Given the description of an element on the screen output the (x, y) to click on. 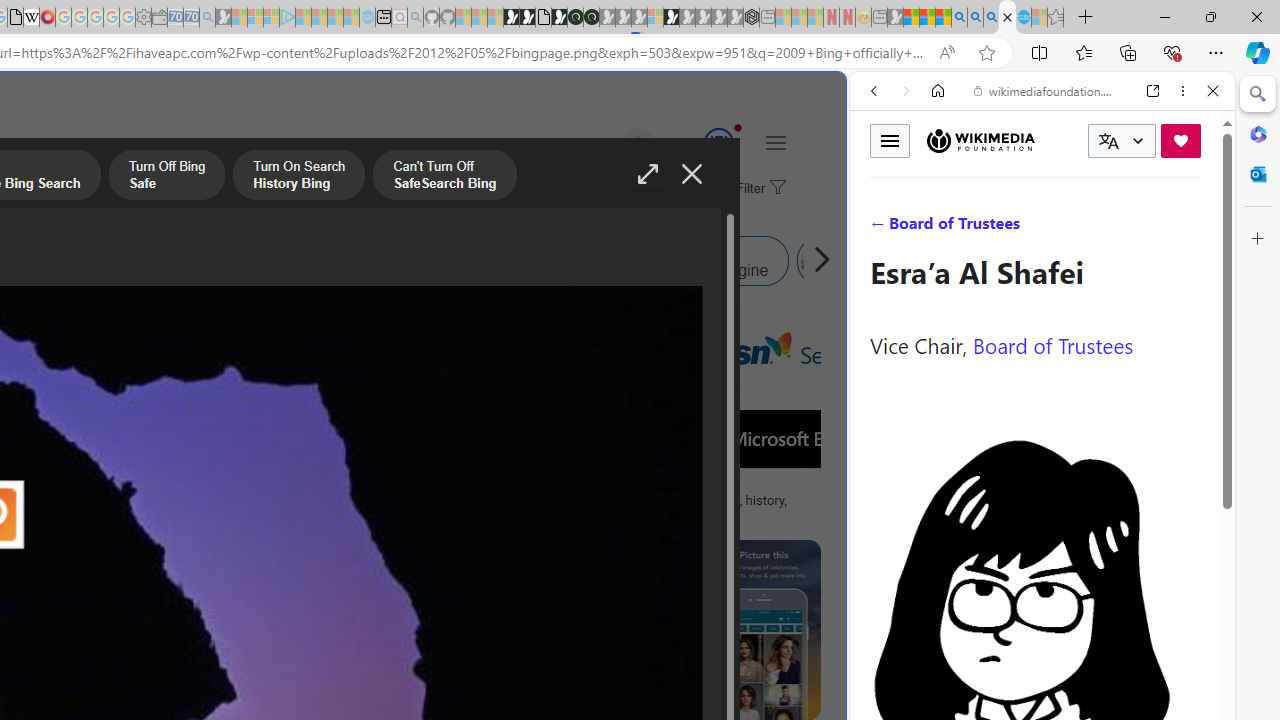
Search Filter, Search Tools (1093, 228)
Target page - Wikipedia (31, 17)
Bing Logo, symbol, meaning, history, PNG, brandSave (694, 417)
wikimediafoundation.org (1045, 90)
CURRENT LANGUAGE: (1121, 141)
github - Search - Sleeping (415, 17)
